Given the description of an element on the screen output the (x, y) to click on. 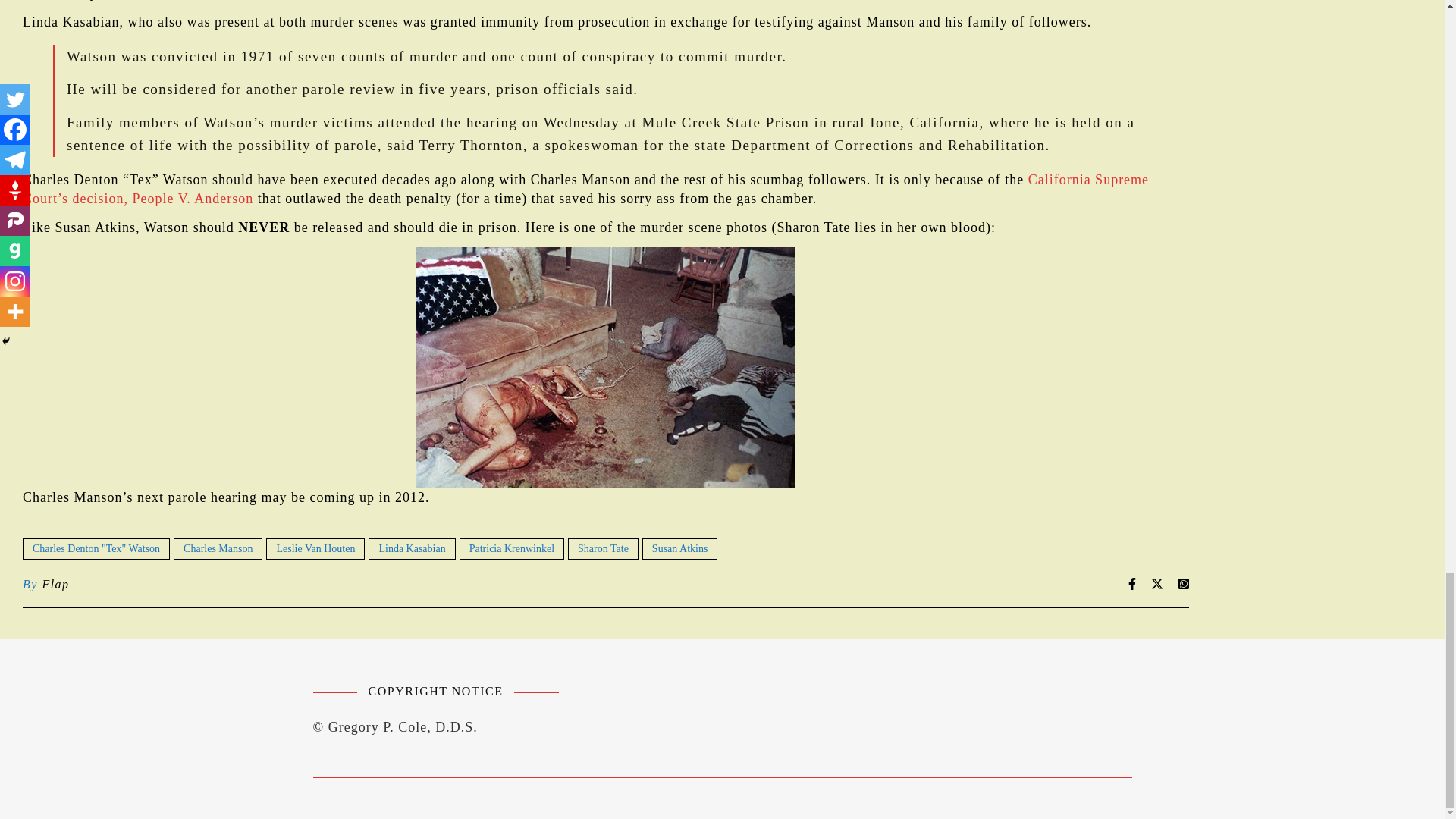
Posts by Flap (55, 584)
Charles Denton "Tex" Watson (96, 548)
Sharon Tate (603, 548)
Leslie Van Houten (315, 548)
Charles Manson (217, 548)
Linda Kasabian (411, 548)
Patricia Krenwinkel (512, 548)
